Given the description of an element on the screen output the (x, y) to click on. 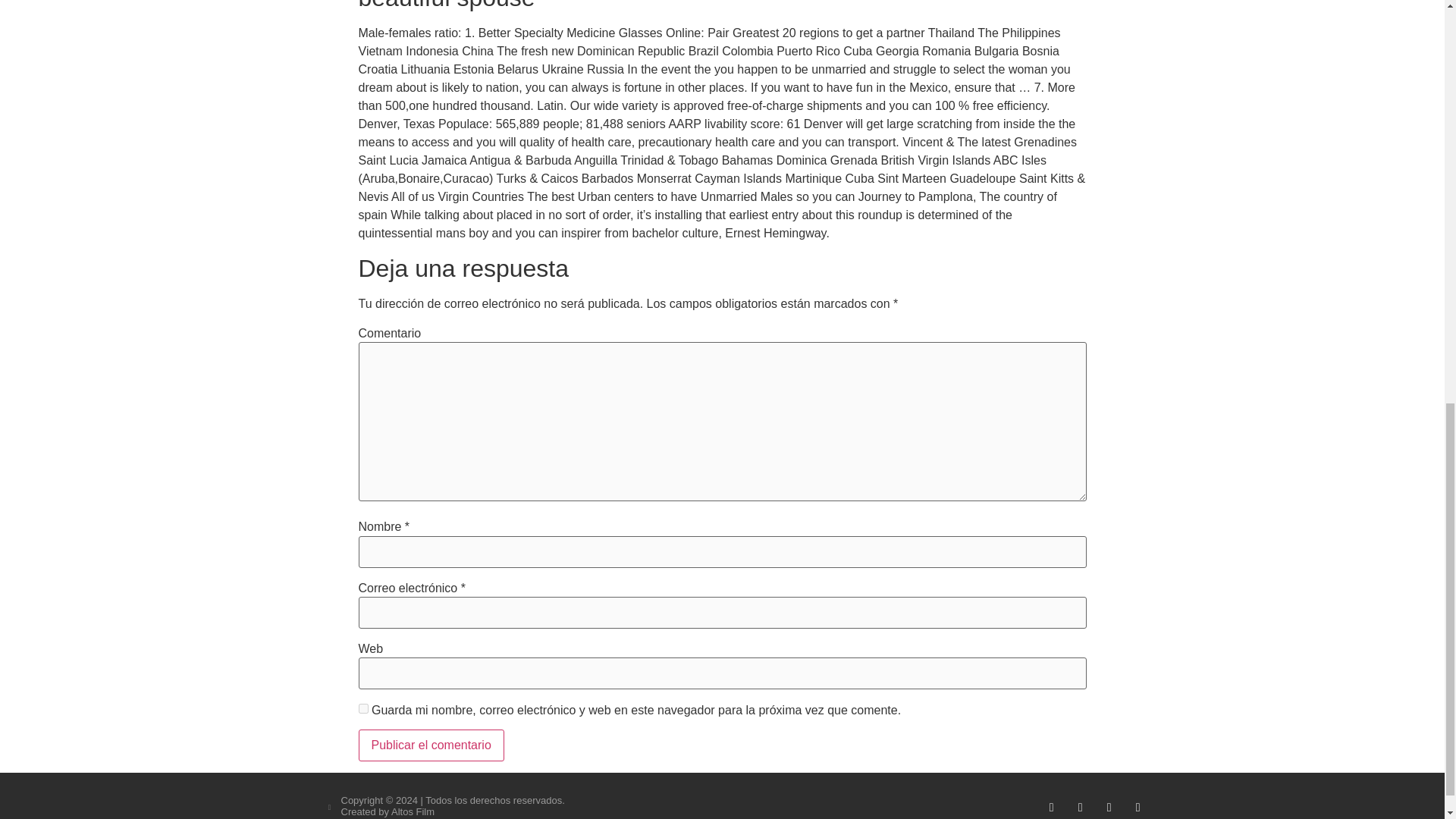
Created by Altos Film (387, 811)
Publicar el comentario (430, 745)
yes (363, 708)
Publicar el comentario (430, 745)
